Given the description of an element on the screen output the (x, y) to click on. 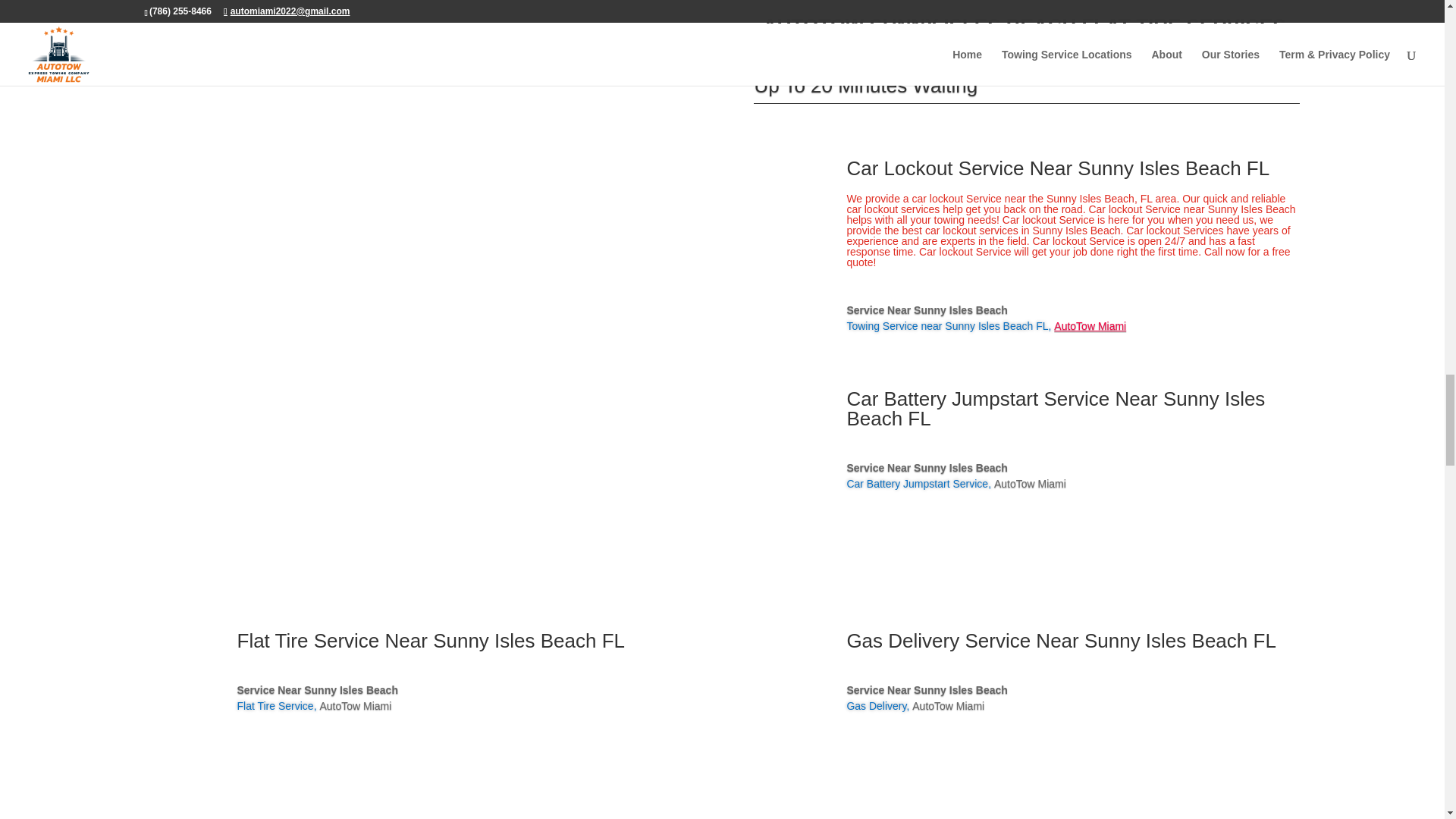
Flat Tire Service Near Hollywood FL (429, 640)
AutoTow Miami (1089, 326)
Flat Tire Service Near Sunny Isles Beach FL (429, 640)
Car Lockout Service Near Sunny Isles Beach FL (1057, 168)
Car Battery Jumpstart Service Near Sunny Isles Beach FL (1055, 408)
Gas Delivery Service Near Hollywood FL (1060, 640)
Car Lockout Service Near Hollywood FL (1057, 168)
Car Battery Jumpstart Near Hollywood FL (1055, 408)
Gas Delivery Service Near Sunny Isles Beach FL (1060, 640)
